Given the description of an element on the screen output the (x, y) to click on. 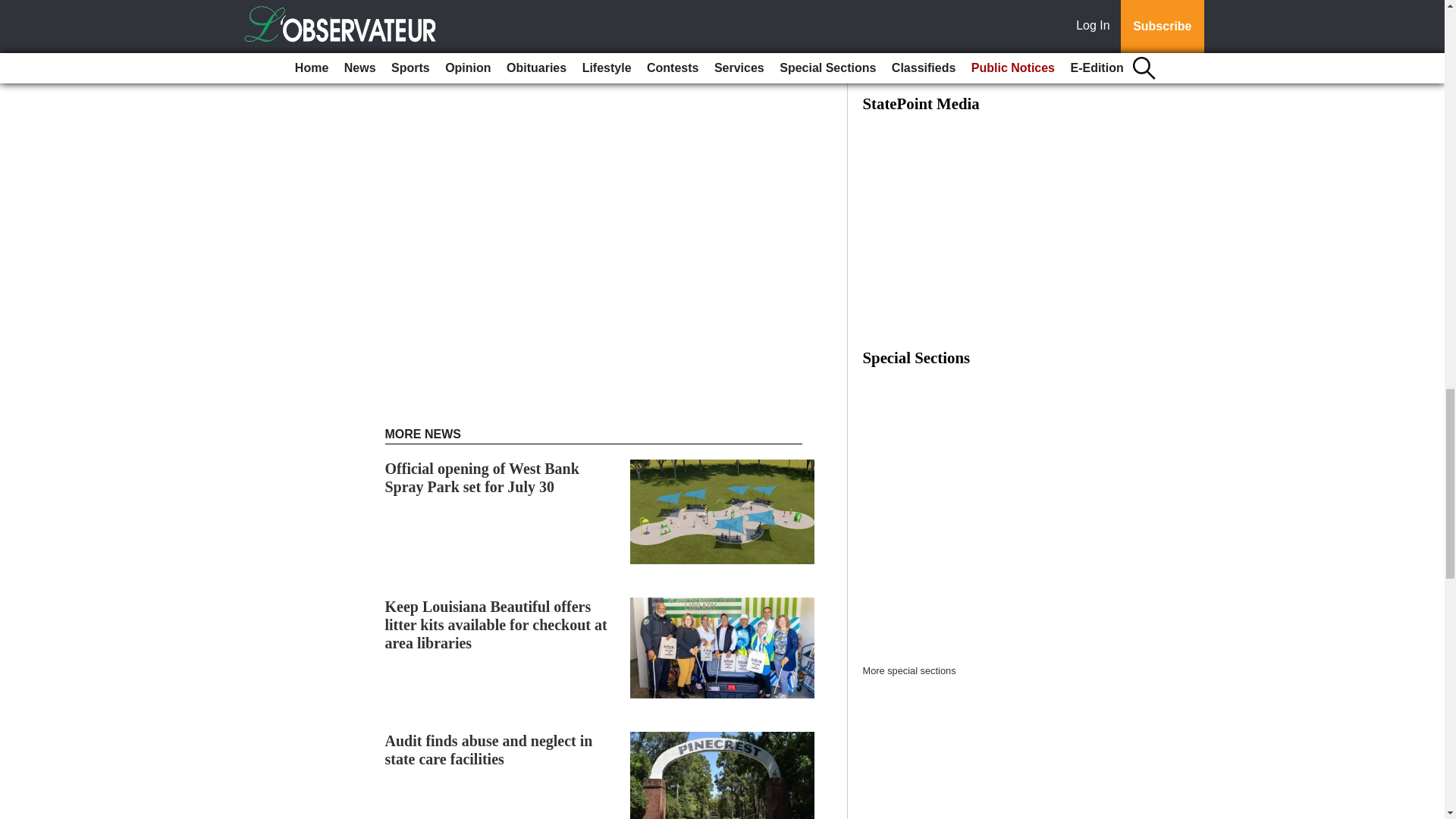
Official opening of West Bank Spray Park set for July 30 (482, 477)
Audit finds abuse and neglect in state care facilities (488, 749)
Official opening of West Bank Spray Park set for July 30 (482, 477)
Audit finds abuse and neglect in state care facilities (488, 749)
